Given the description of an element on the screen output the (x, y) to click on. 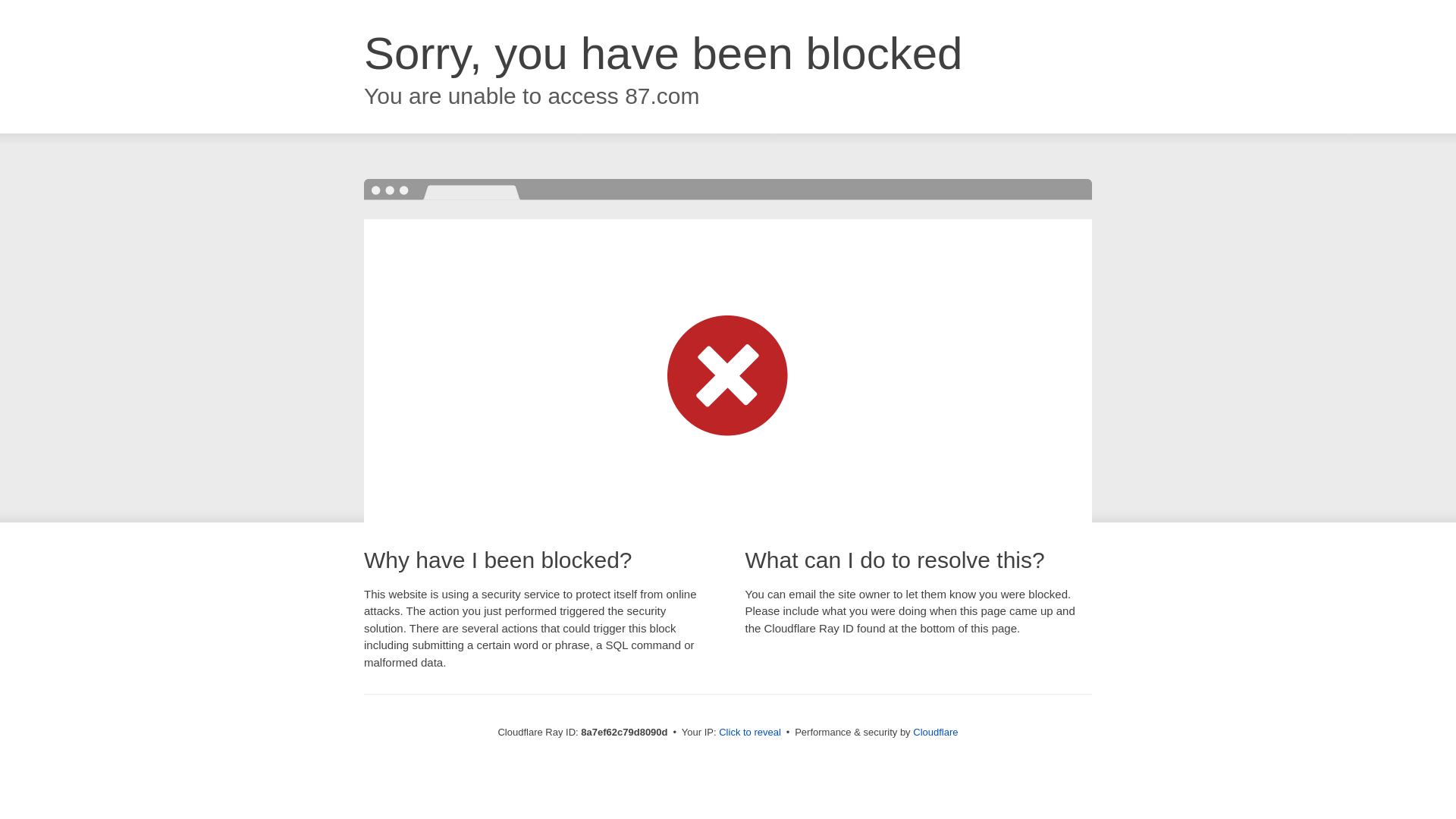
Cloudflare (935, 731)
Click to reveal (749, 732)
